Given the description of an element on the screen output the (x, y) to click on. 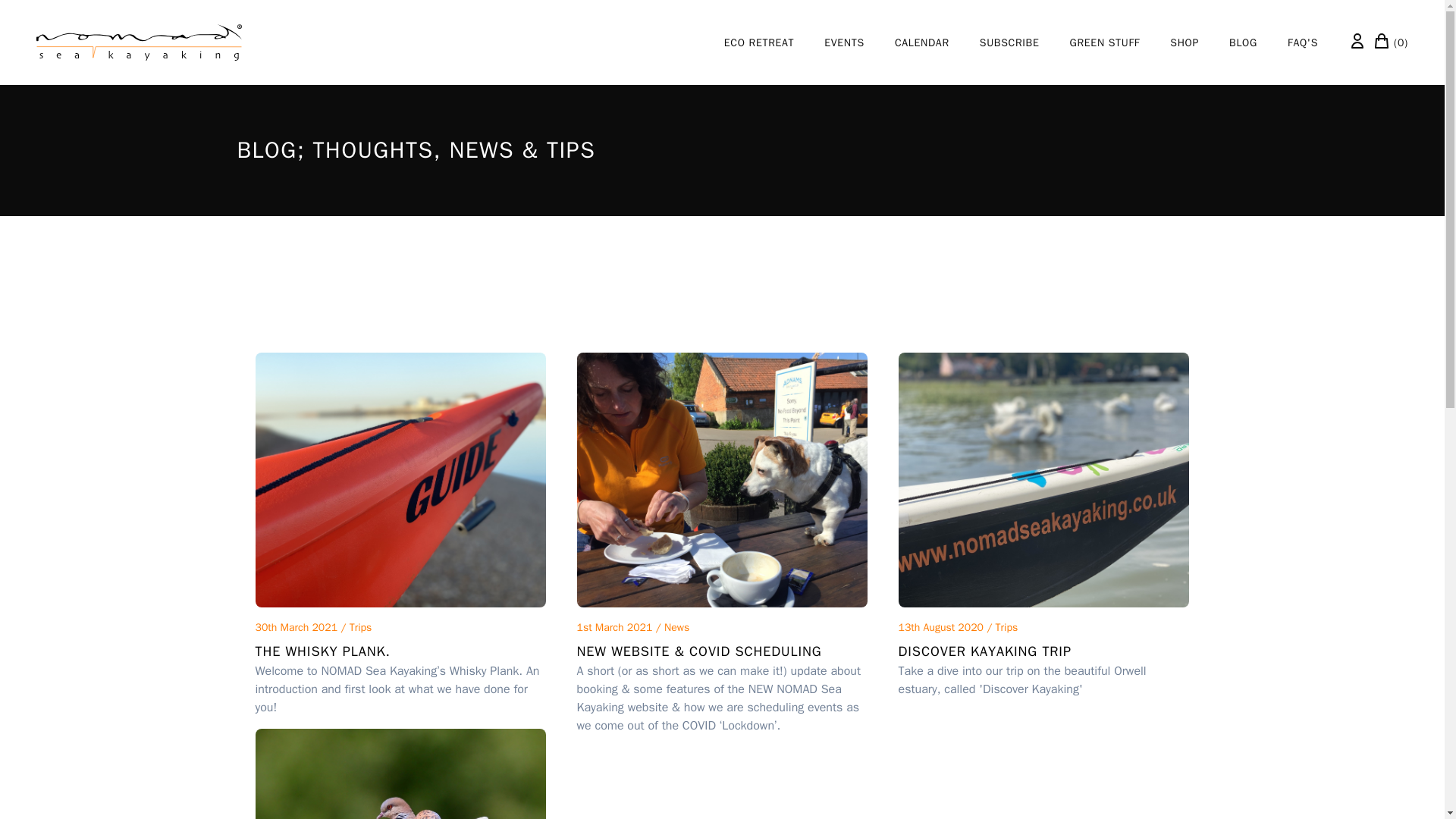
FAQ'S (1302, 42)
GREEN STUFF (1105, 42)
BLOG (1242, 42)
EVENTS (844, 42)
SUBSCRIBE (1009, 42)
CALENDAR (922, 42)
SHOP (1184, 42)
ECO RETREAT (758, 42)
